Given the description of an element on the screen output the (x, y) to click on. 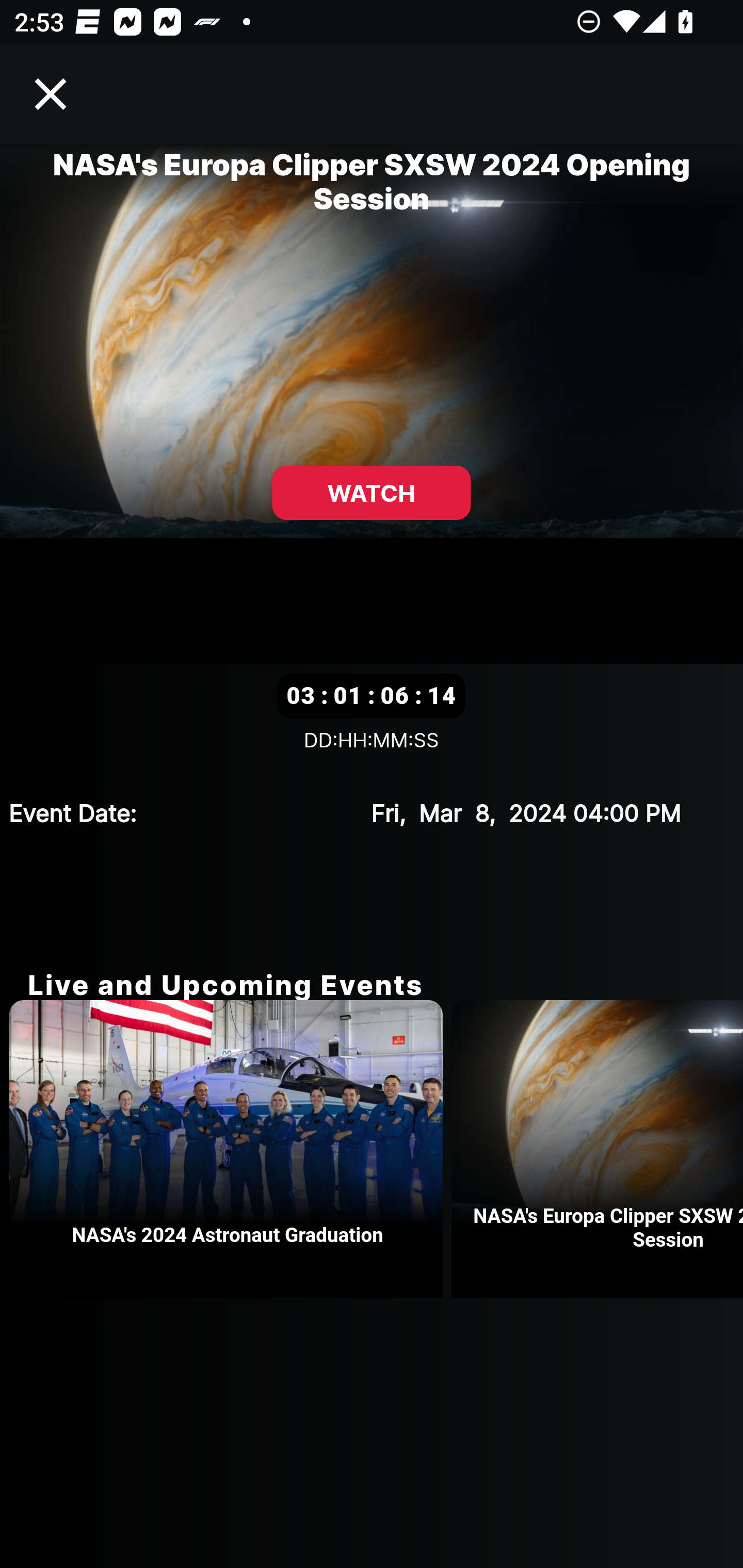
WATCH (371, 492)
NASA's 2024 Astronaut Graduation (229, 1149)
NASA's Europa Clipper SXSW 2024 Opening Session (597, 1149)
